Given the description of an element on the screen output the (x, y) to click on. 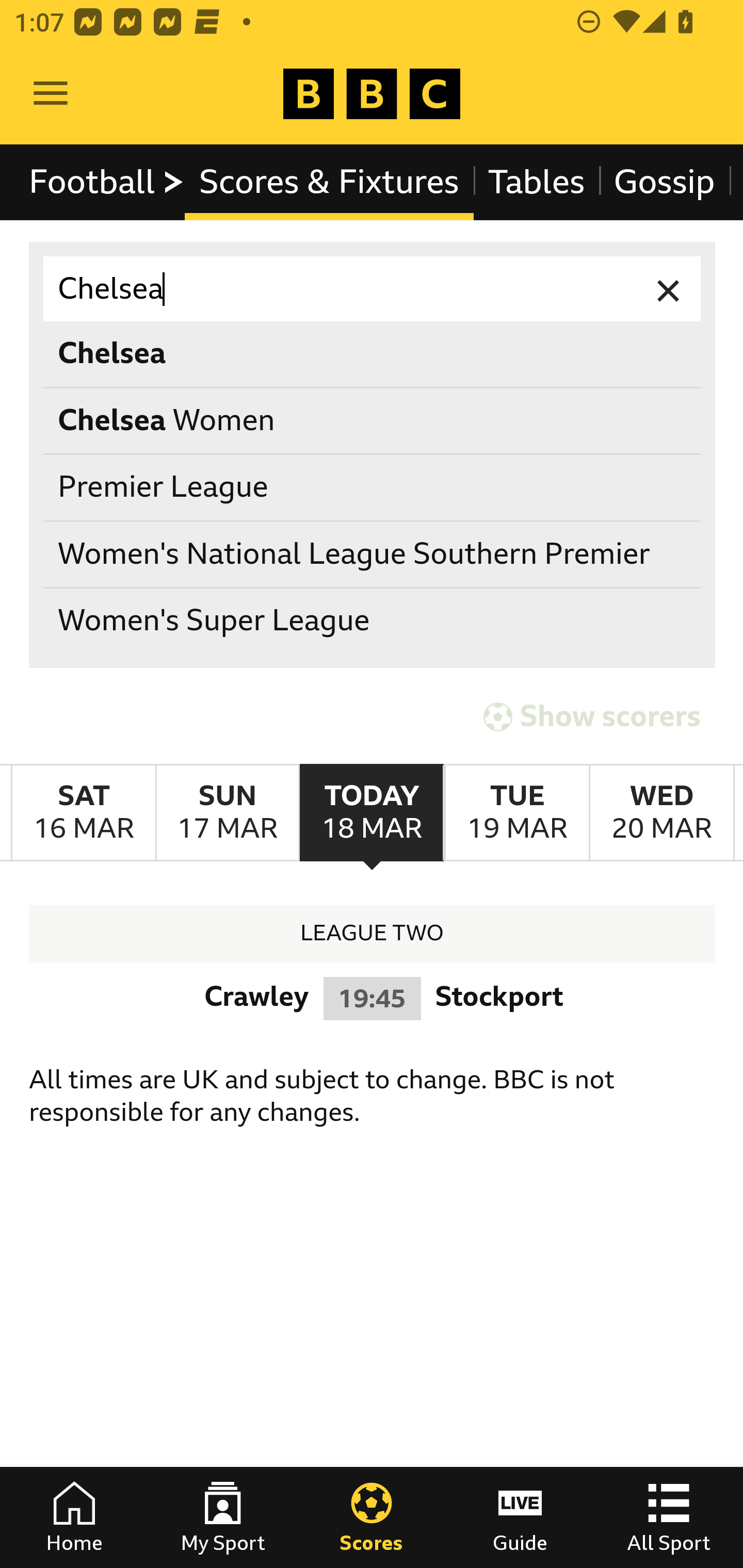
Open Menu (50, 93)
Football  (106, 181)
Scores & Fixtures (329, 181)
Tables (536, 181)
Gossip (664, 181)
Chelsea (372, 289)
Clear input (669, 289)
Chelsea Women Chelsea  Women (372, 419)
Premier League (372, 488)
Women's National League Southern Premier (372, 554)
Women's Super League (372, 620)
Show scorers (591, 716)
SaturdayMarch 16th Saturday March 16th (83, 812)
SundayMarch 17th Sunday March 17th (227, 812)
TuesdayMarch 19th Tuesday March 19th (516, 812)
WednesdayMarch 20th Wednesday March 20th (661, 812)
Home (74, 1517)
My Sport (222, 1517)
Guide (519, 1517)
All Sport (668, 1517)
